Given the description of an element on the screen output the (x, y) to click on. 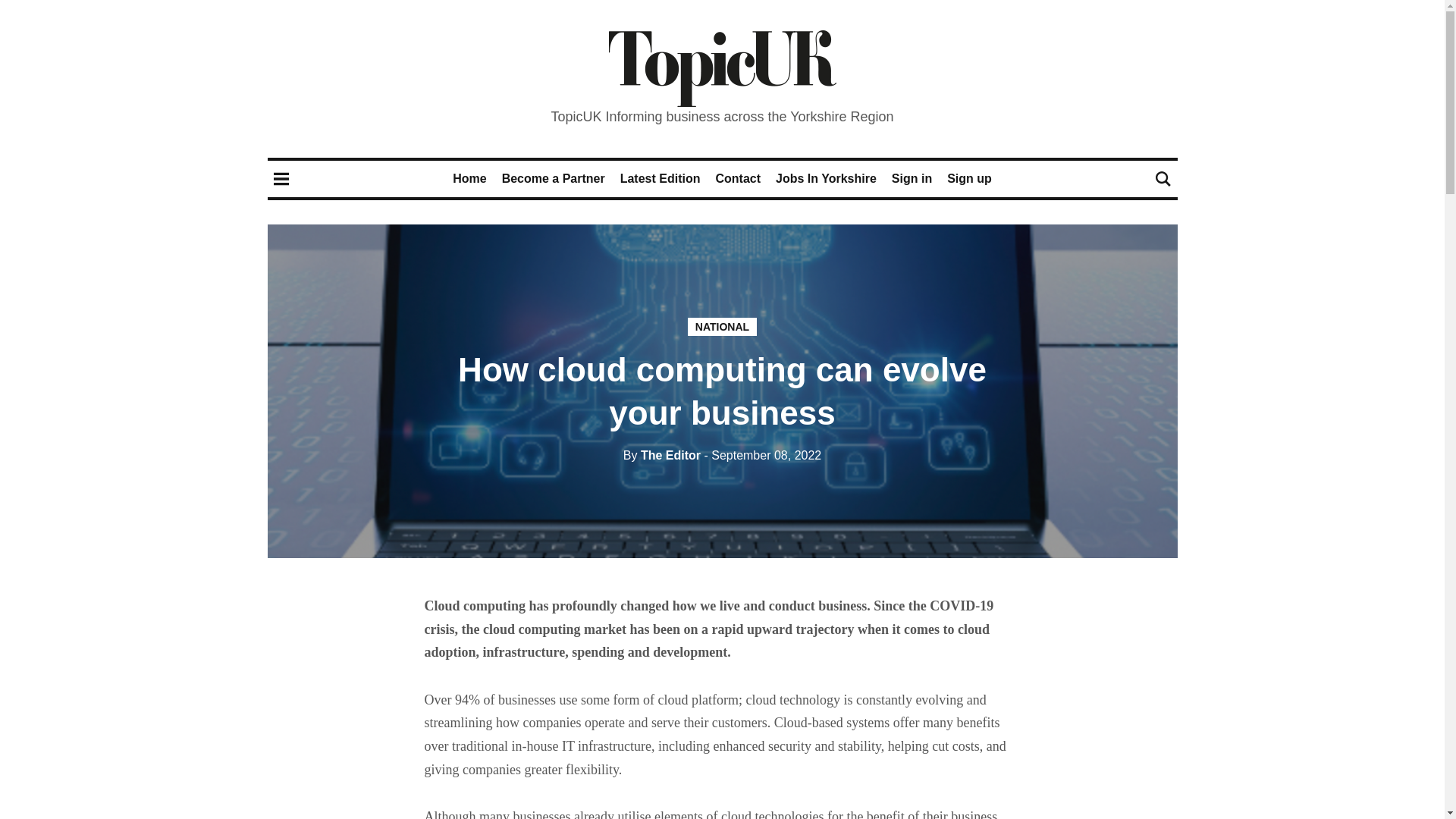
Sign up (969, 178)
By The Editor (661, 454)
Contact (737, 178)
Become a Partner (553, 178)
NATIONAL (722, 326)
08 September, 2022 (762, 454)
Latest Edition (660, 178)
Home (469, 178)
Jobs In Yorkshire (826, 178)
Sign in (911, 178)
